Given the description of an element on the screen output the (x, y) to click on. 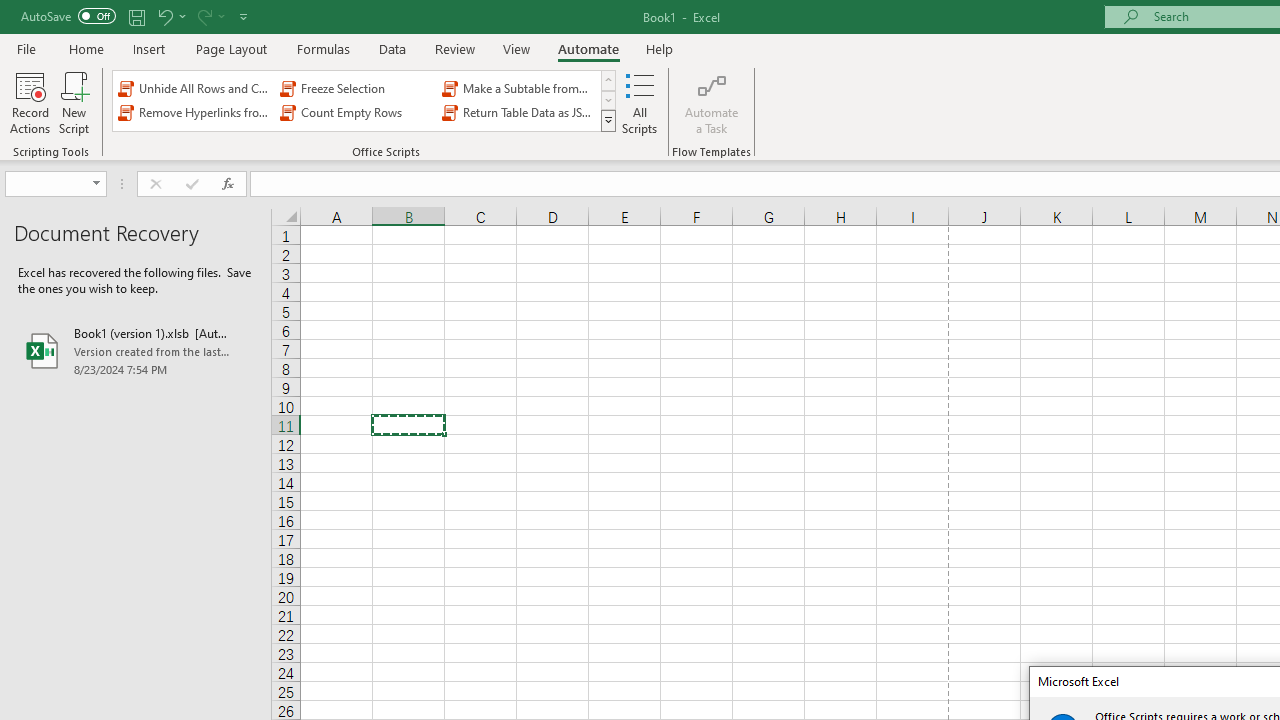
Record Actions (29, 102)
Make a Subtable from a Selection (518, 88)
AutomationID: OfficeScriptsGallery (365, 100)
Remove Hyperlinks from Sheet (194, 112)
Automate a Task (712, 102)
